Given the description of an element on the screen output the (x, y) to click on. 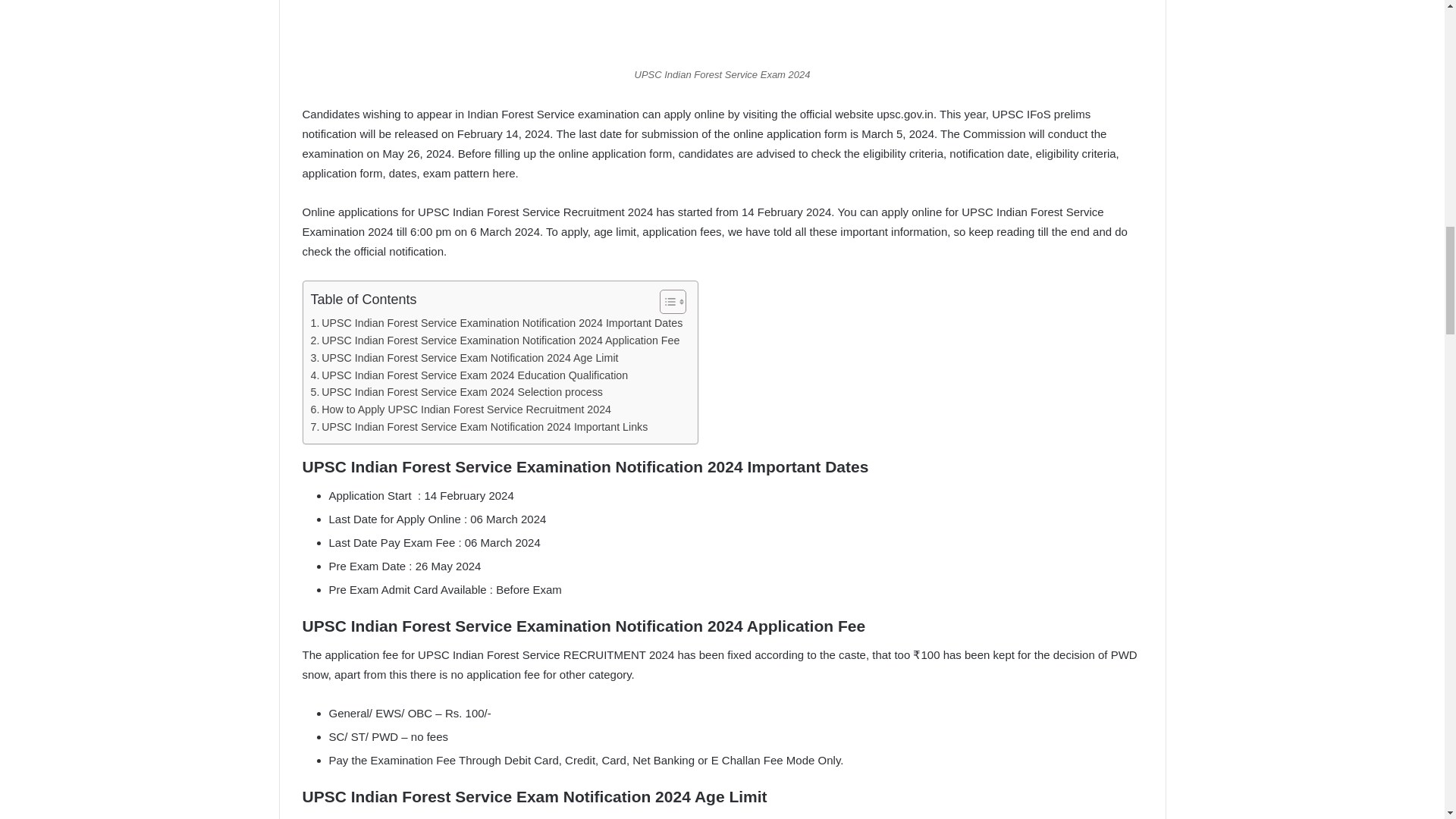
UPSC Indian Forest Service Exam Notification 2024 Age Limit (464, 357)
UPSC Indian Forest Service Exam 2024 Education Qualification (469, 375)
UPSC Indian Forest Service Exam Notification 2024 Age Limit (464, 357)
UPSC Indian Forest Service Exam 2024 Selection process (456, 392)
UPSC Indian Forest Service Exam 2024 Education Qualification (469, 375)
UPSC Indian Forest Service Exam 2024 Selection process (456, 392)
How to Apply UPSC Indian Forest Service Recruitment 2024 (461, 409)
How to Apply UPSC Indian Forest Service Recruitment 2024 (461, 409)
